Given the description of an element on the screen output the (x, y) to click on. 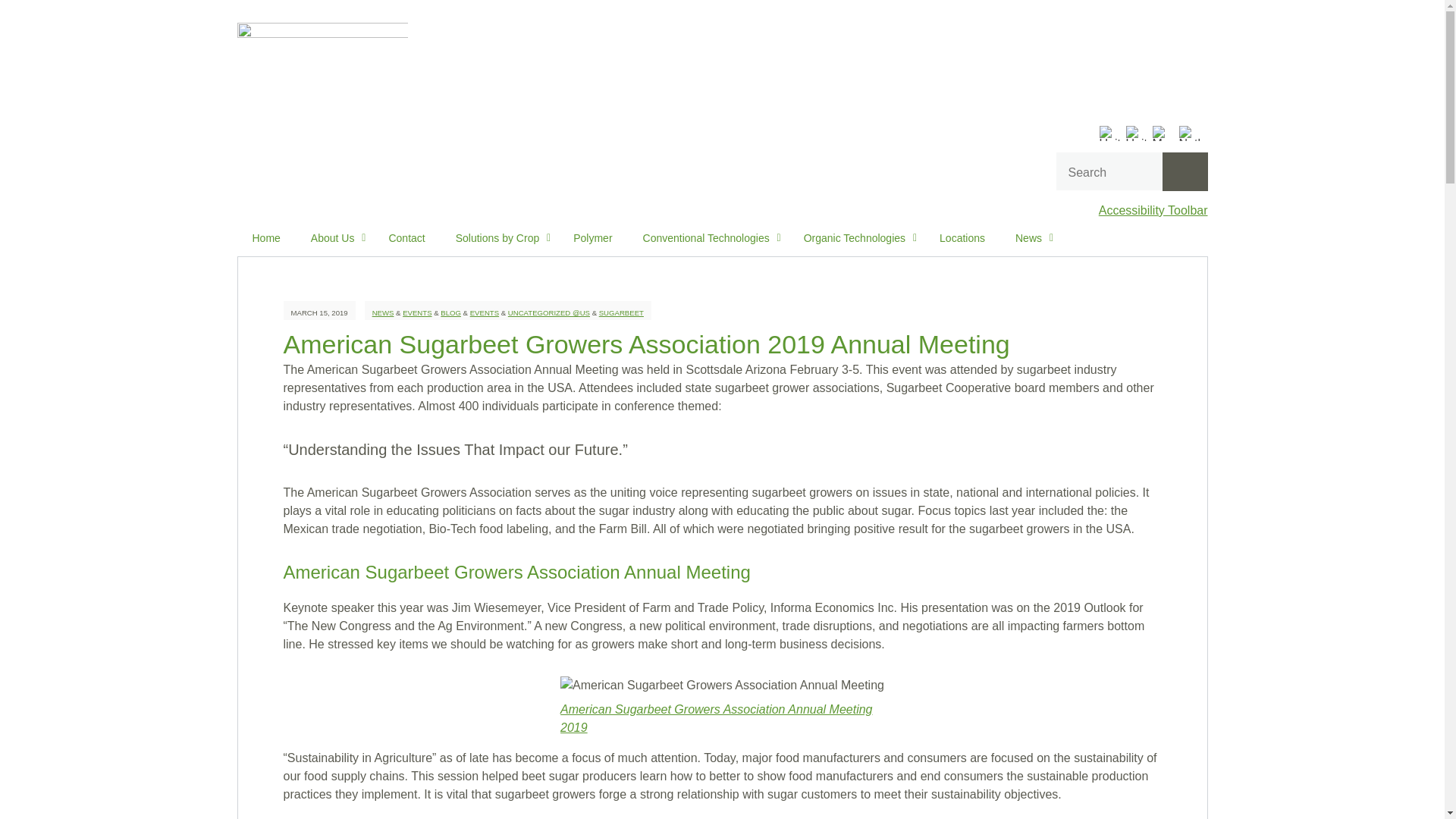
Accessibility Toolbar (1153, 210)
About Us (334, 238)
Contact (405, 238)
Search (1184, 171)
Home (265, 238)
Search (1184, 171)
Solutions by Crop (500, 238)
